Given the description of an element on the screen output the (x, y) to click on. 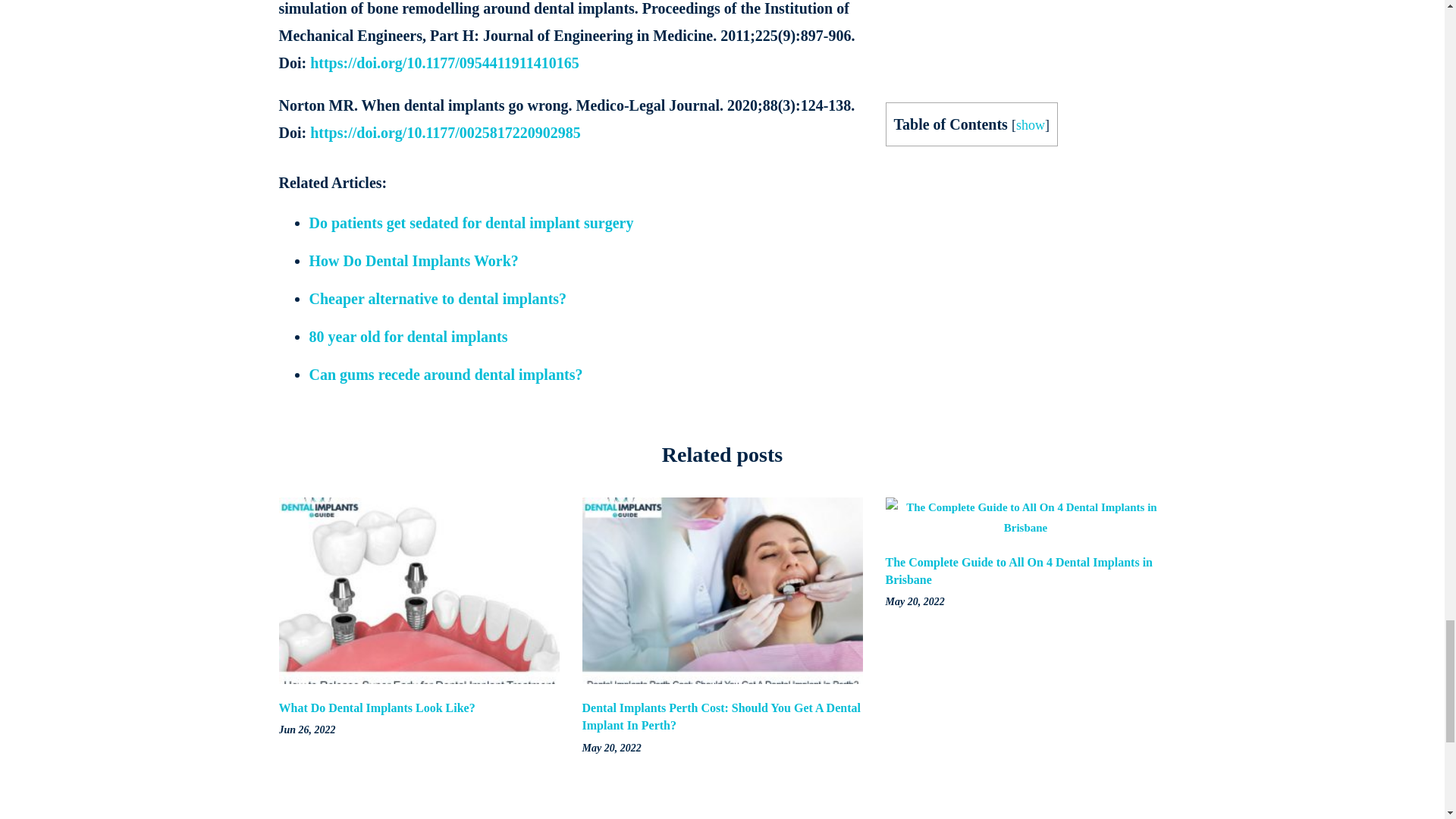
80 year old for dental implants (408, 336)
Do patients get sedated for dental implant surgery (470, 222)
How Do Dental Implants Work? (413, 260)
Can gums recede around dental implants? (445, 374)
Cheaper alternative to dental implants? (437, 298)
What Do Dental Implants Look Like? (377, 707)
